Given the description of an element on the screen output the (x, y) to click on. 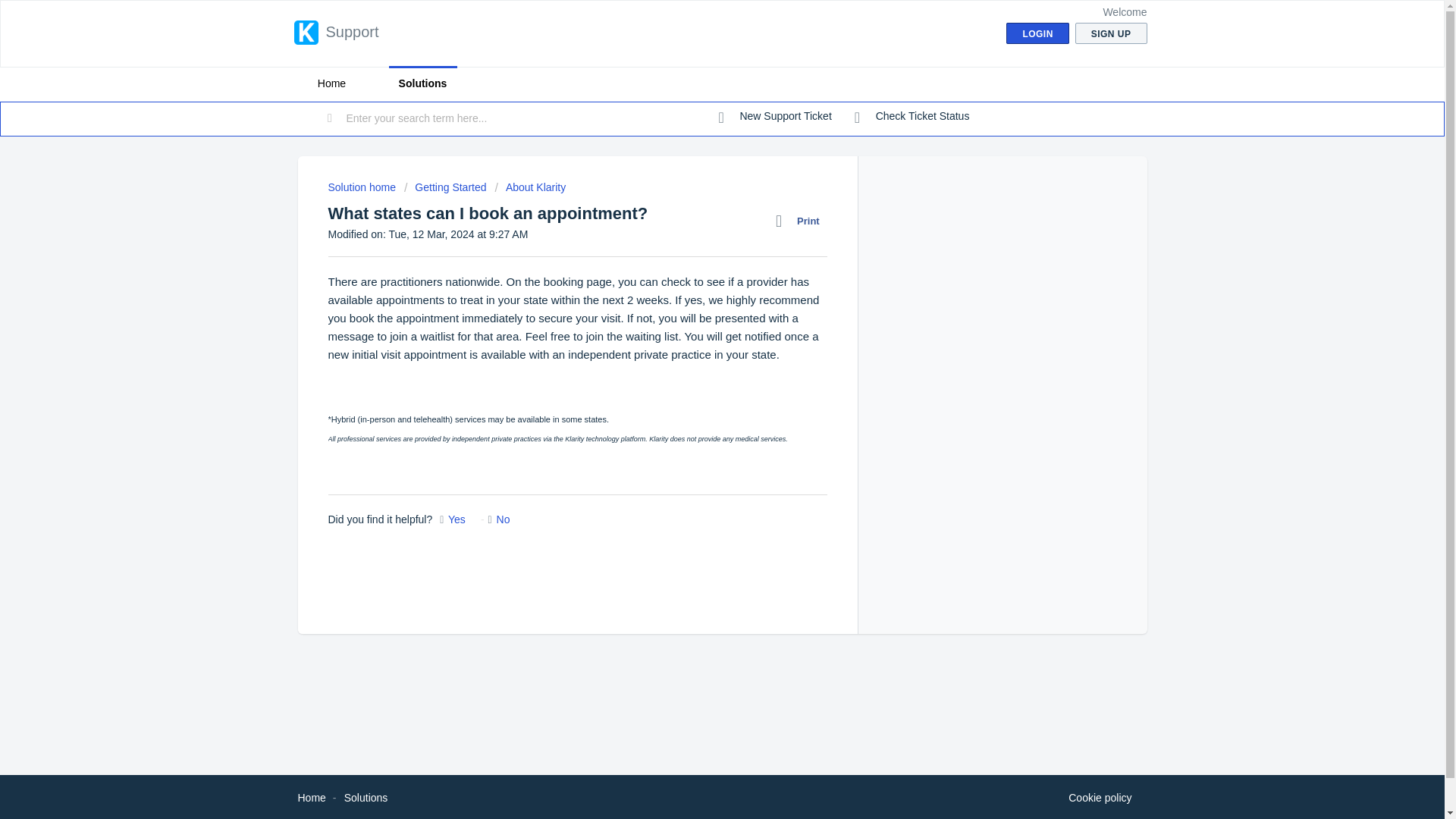
Print this Article (801, 220)
Solutions (365, 797)
Check Ticket Status (911, 116)
Home (310, 797)
Getting Started (445, 186)
Cookie policy (1099, 798)
Solution home (362, 186)
Check ticket status (911, 116)
New support ticket (775, 116)
Solutions (422, 83)
